Given the description of an element on the screen output the (x, y) to click on. 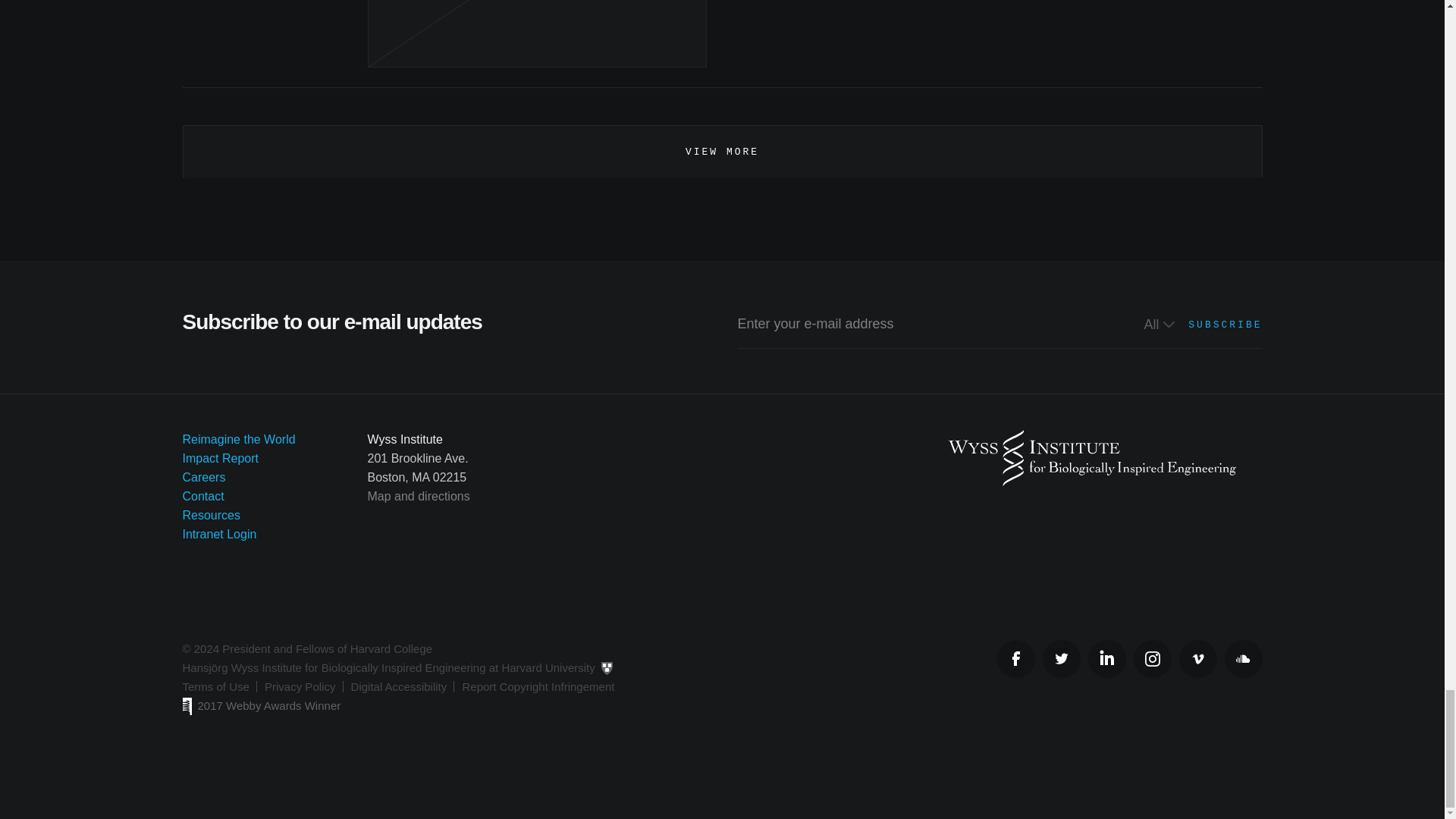
Subscribe to our e-mail updates (722, 349)
